Given the description of an element on the screen output the (x, y) to click on. 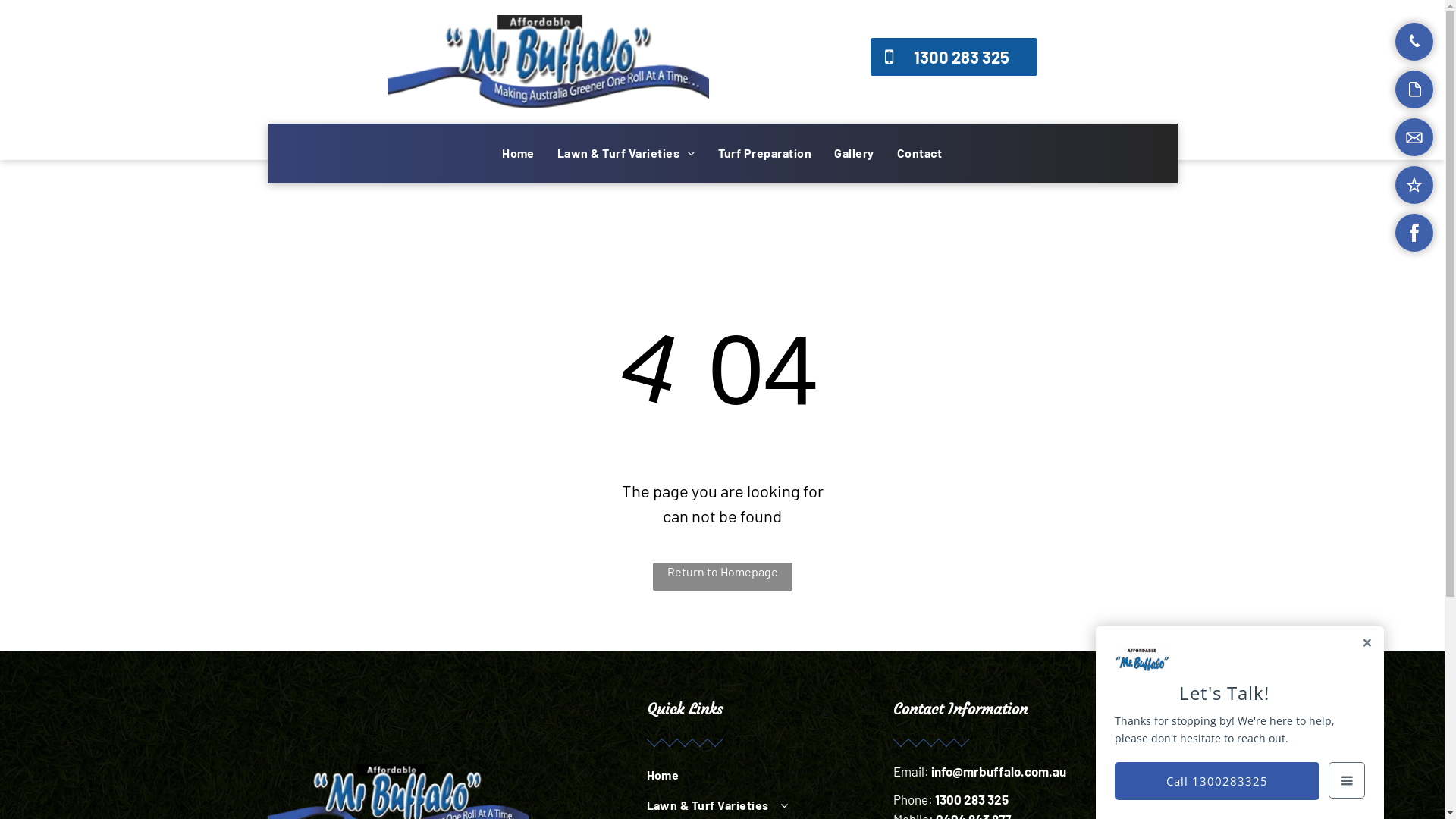
Contact Element type: text (919, 153)
Home Element type: text (518, 153)
Gallery Element type: text (853, 153)
Affordable Mr Buffalo Element type: hover (547, 61)
Lawn & Turf Varieties Element type: text (626, 153)
1300 283 325 Element type: text (953, 56)
info@mrbuffalo.com.au Element type: text (998, 770)
Turf Preparation Element type: text (764, 153)
Return to Homepage Element type: text (721, 576)
Home Element type: text (750, 776)
Call 1300283325 Element type: text (1216, 781)
1300 283 325 Element type: text (970, 798)
